Given the description of an element on the screen output the (x, y) to click on. 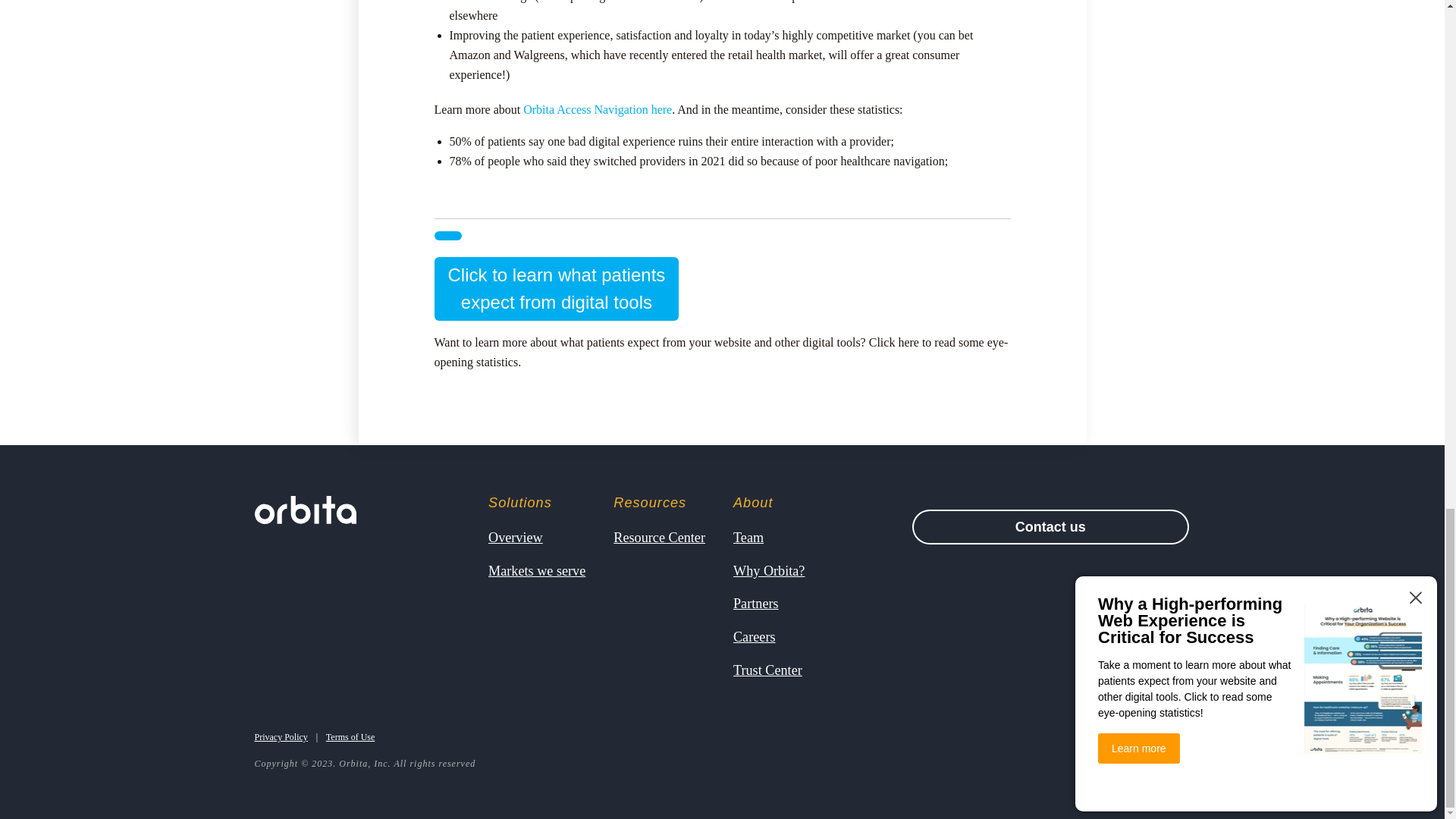
Resources (658, 502)
Trust Center (767, 669)
Click to learn what patients  expect from digital tools (447, 235)
Resource Center (555, 289)
Careers (658, 537)
About (754, 636)
Click here (769, 502)
Why Orbita? (893, 341)
Team (769, 570)
Orbita Access Navigation here (747, 537)
Click to learn what patients  expect from digital tools (596, 109)
Orbita (555, 289)
Solutions (305, 510)
Partners (536, 502)
